Given the description of an element on the screen output the (x, y) to click on. 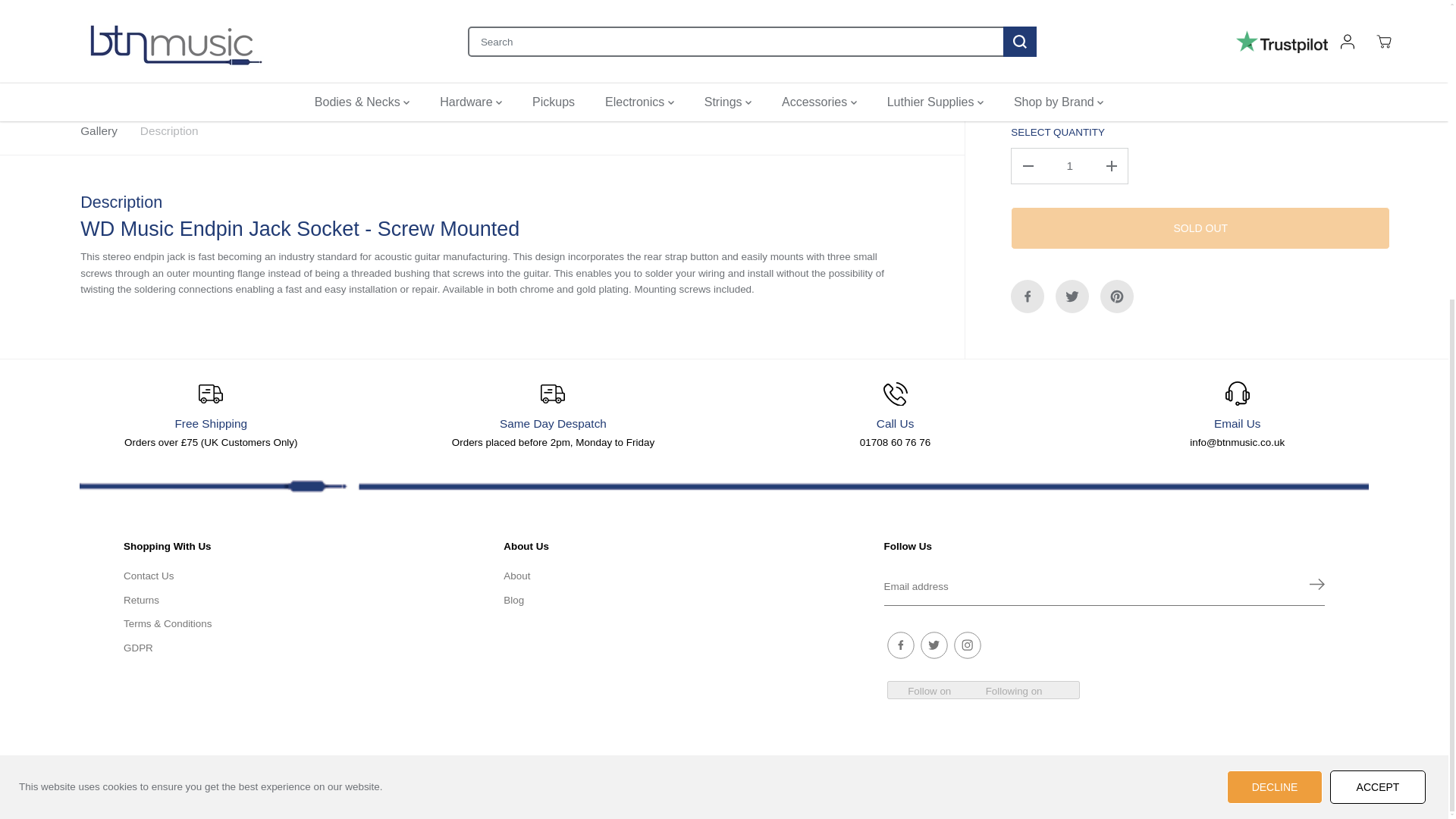
Facebook (1026, 99)
Pinterest (1117, 99)
Twitter (1072, 99)
